Given the description of an element on the screen output the (x, y) to click on. 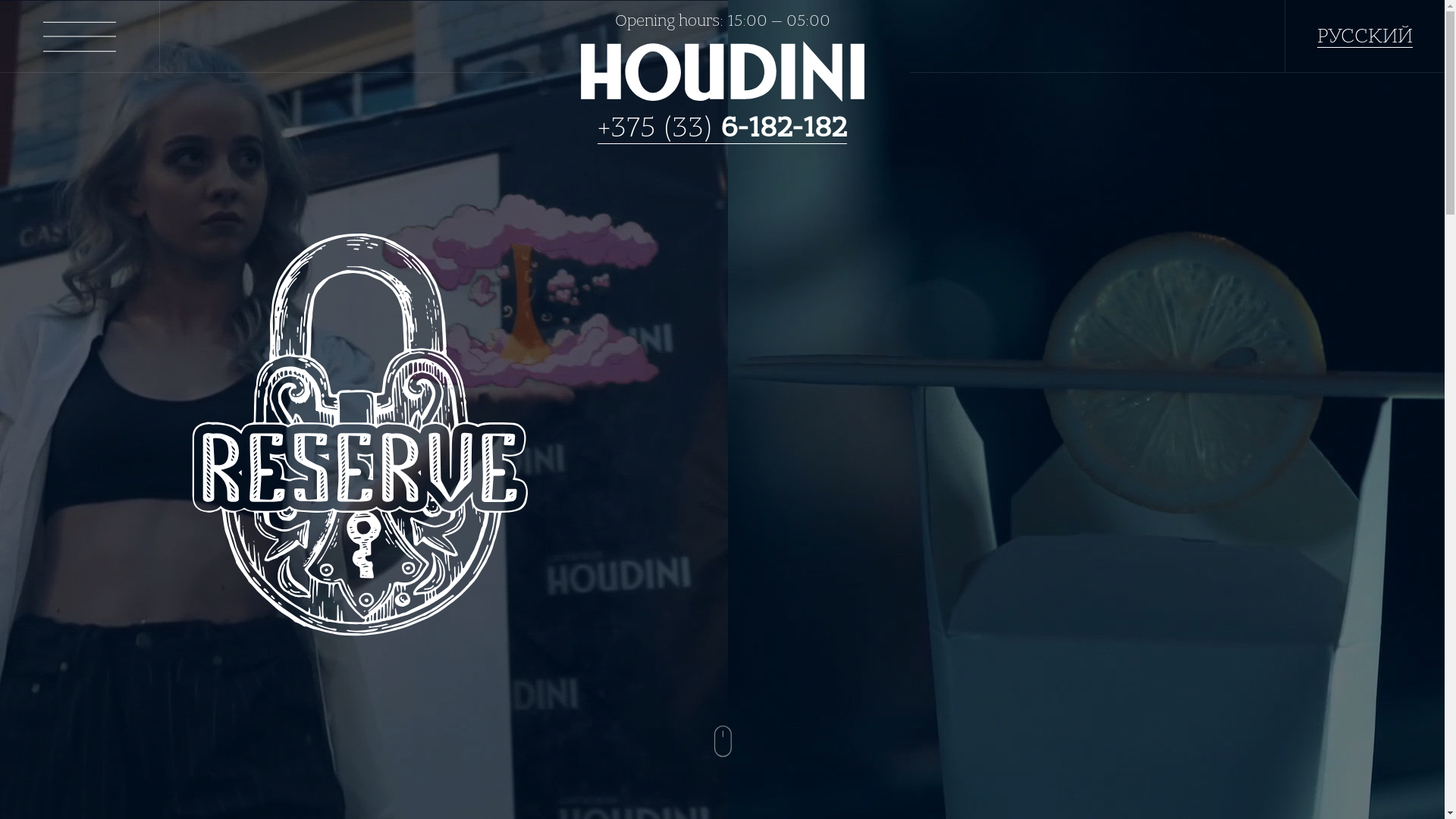
+375 (33) 6-182-182 Element type: text (722, 126)
Send Element type: text (800, 647)
